Given the description of an element on the screen output the (x, y) to click on. 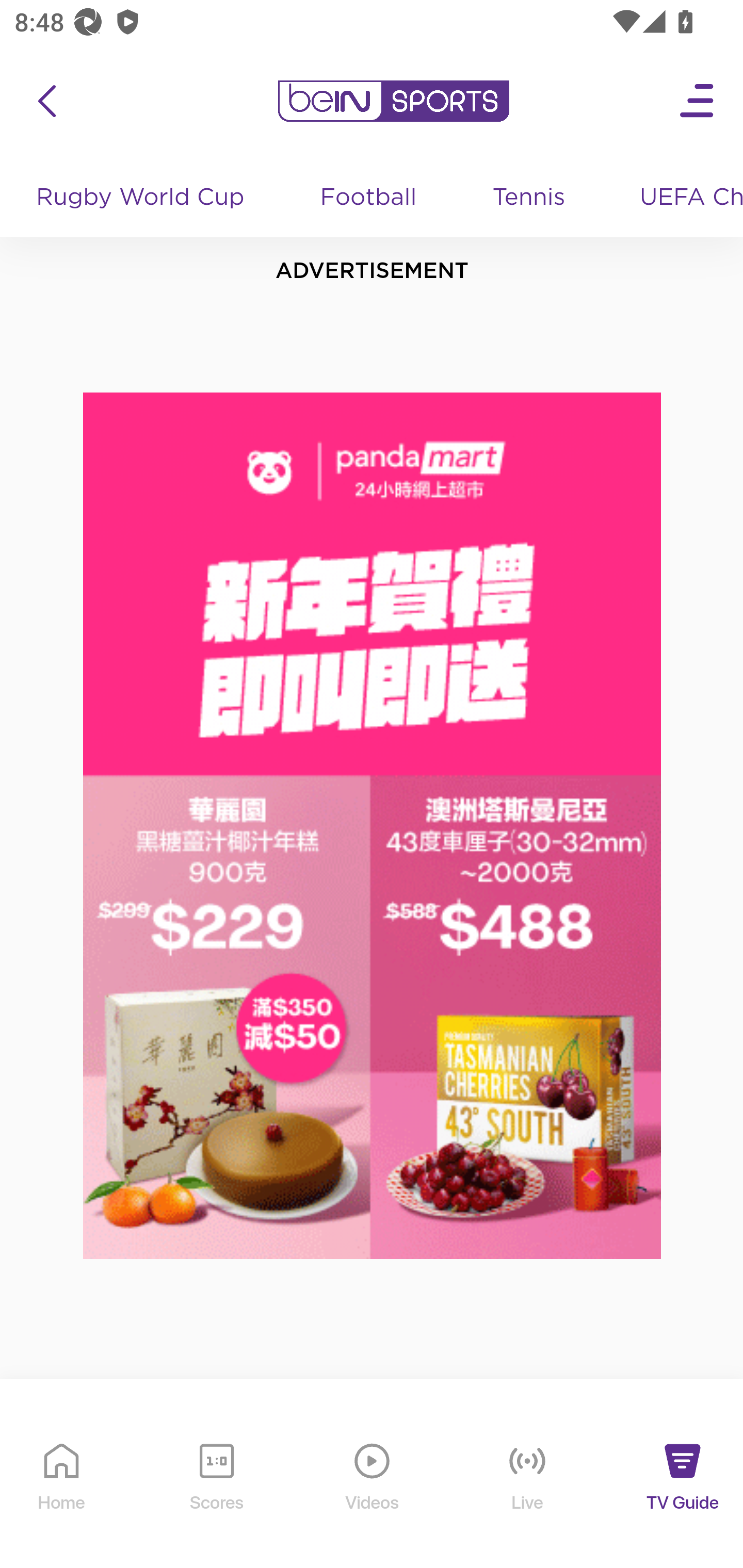
en-my?platform=mobile_android bein logo (392, 101)
icon back (46, 101)
Open Menu Icon (697, 101)
Rugby World Cup (142, 198)
Football (369, 198)
Tennis (530, 198)
UEFA Champions League (683, 198)
Advertisement (372, 826)
Home Home Icon Home (61, 1491)
Scores Scores Icon Scores (216, 1491)
Videos Videos Icon Videos (372, 1491)
TV Guide TV Guide Icon TV Guide (682, 1491)
